Given the description of an element on the screen output the (x, y) to click on. 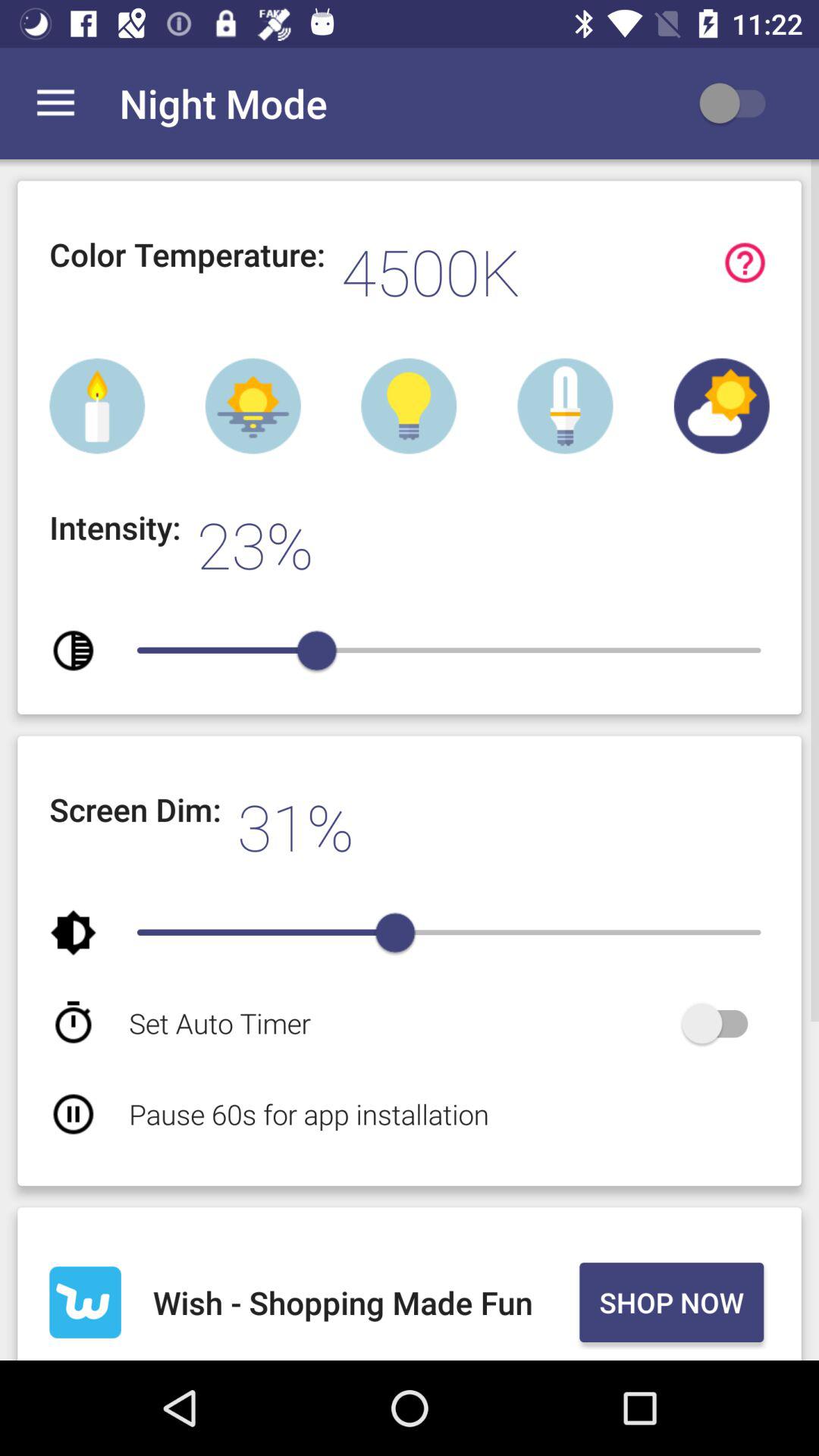
display guide (744, 262)
